Given the description of an element on the screen output the (x, y) to click on. 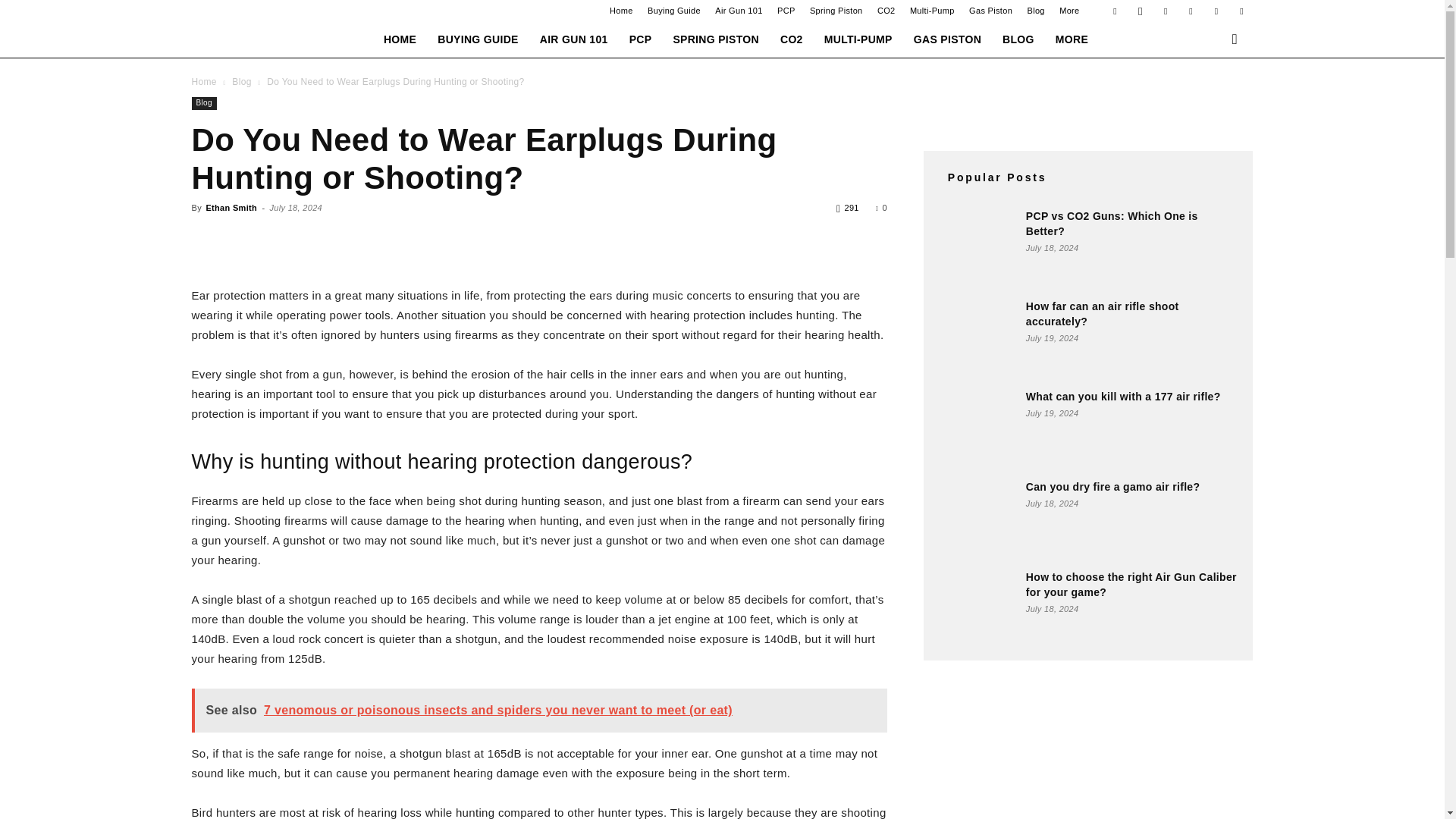
Buying Guide (673, 10)
Facebook (1114, 10)
Instagram (1140, 10)
Soundcloud (1190, 10)
Tumblr (1216, 10)
Home (621, 10)
Twitter (1241, 10)
Pinterest (1165, 10)
